Given the description of an element on the screen output the (x, y) to click on. 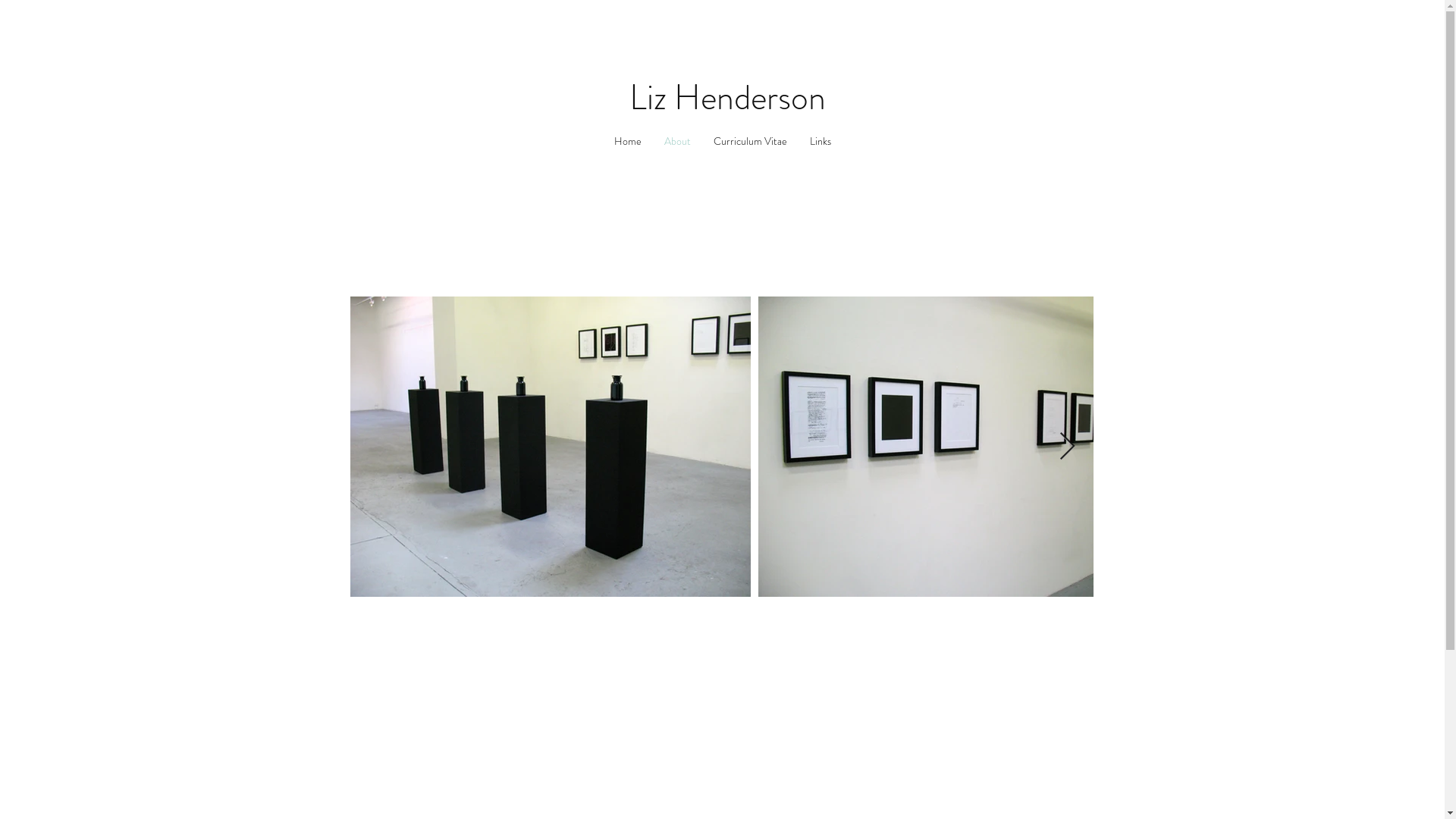
About Element type: text (676, 141)
Curriculum Vitae Element type: text (750, 141)
Home Element type: text (627, 141)
Links Element type: text (819, 141)
